Given the description of an element on the screen output the (x, y) to click on. 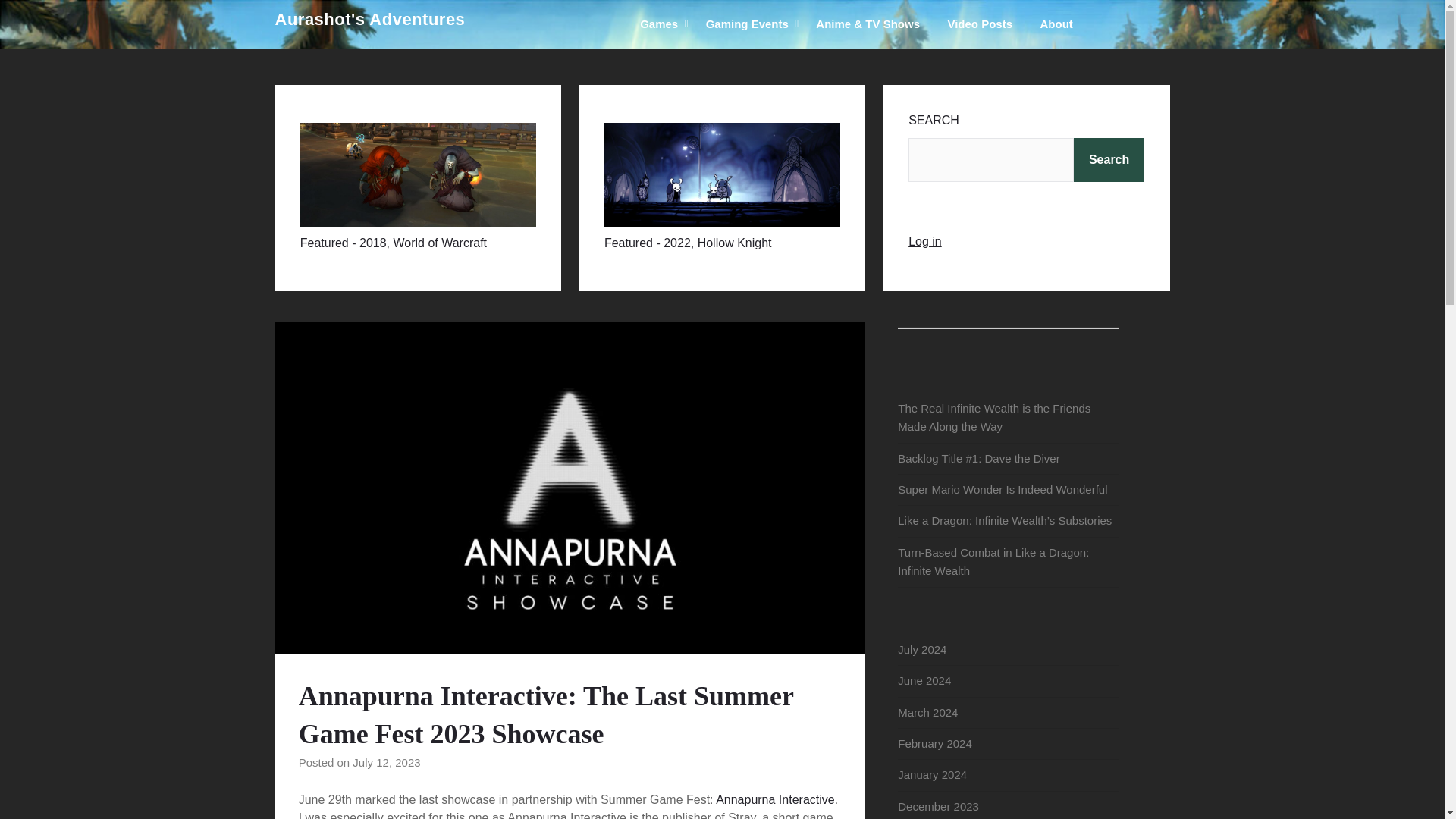
Log in (925, 241)
Search (1109, 159)
Aurashot's Adventures (369, 19)
Annapurna Interactive (775, 799)
About (1055, 24)
Video Posts (979, 24)
Gaming Events (747, 24)
Games (658, 24)
